Given the description of an element on the screen output the (x, y) to click on. 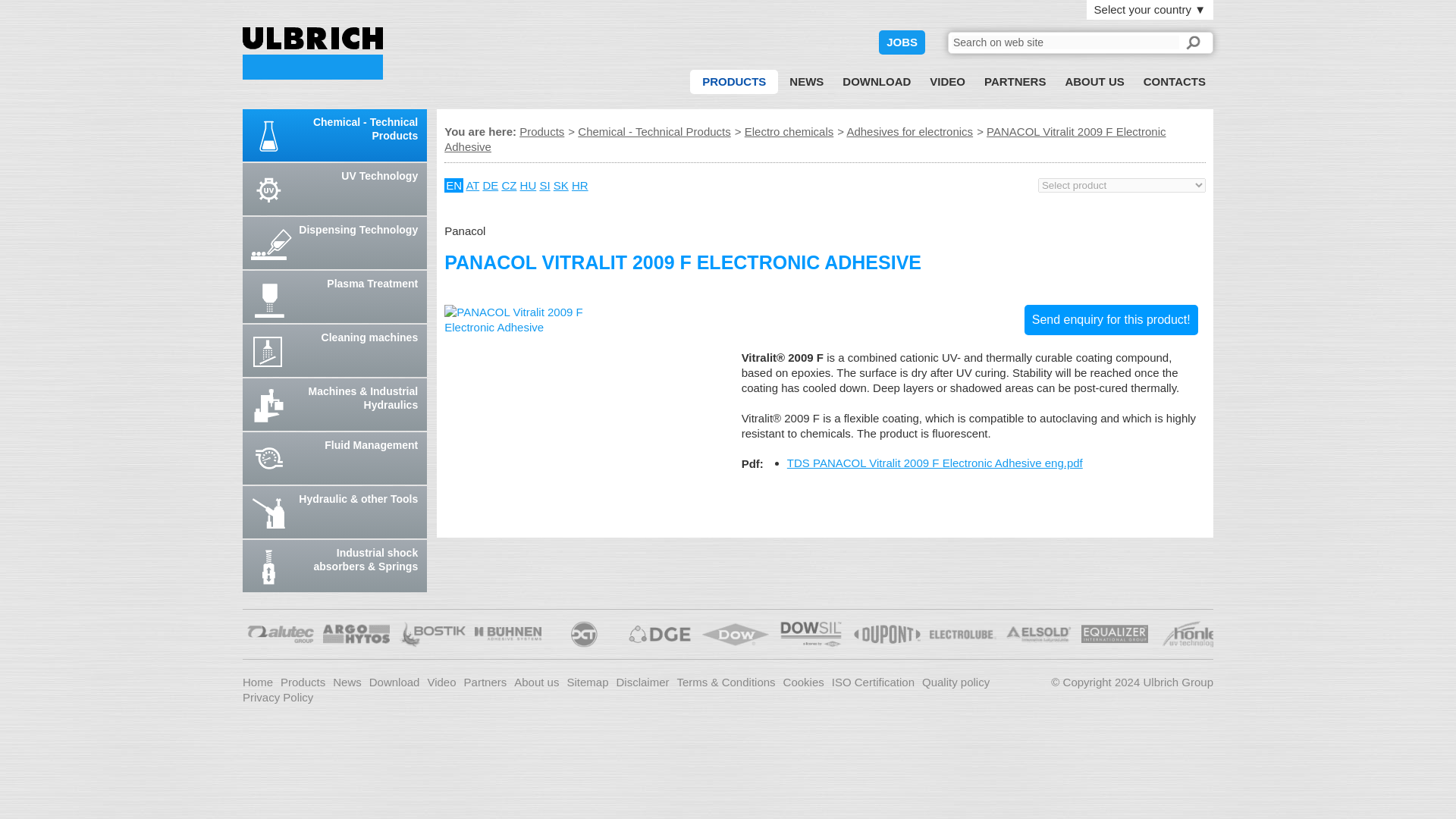
About us (1094, 81)
JOBS (901, 42)
Partners (1014, 81)
CONTACTS (1173, 81)
PRODUCTS (733, 81)
Download (876, 81)
PARTNERS (1014, 81)
JOBS (901, 42)
DOWNLOAD (876, 81)
UV Technology (334, 188)
